Given the description of an element on the screen output the (x, y) to click on. 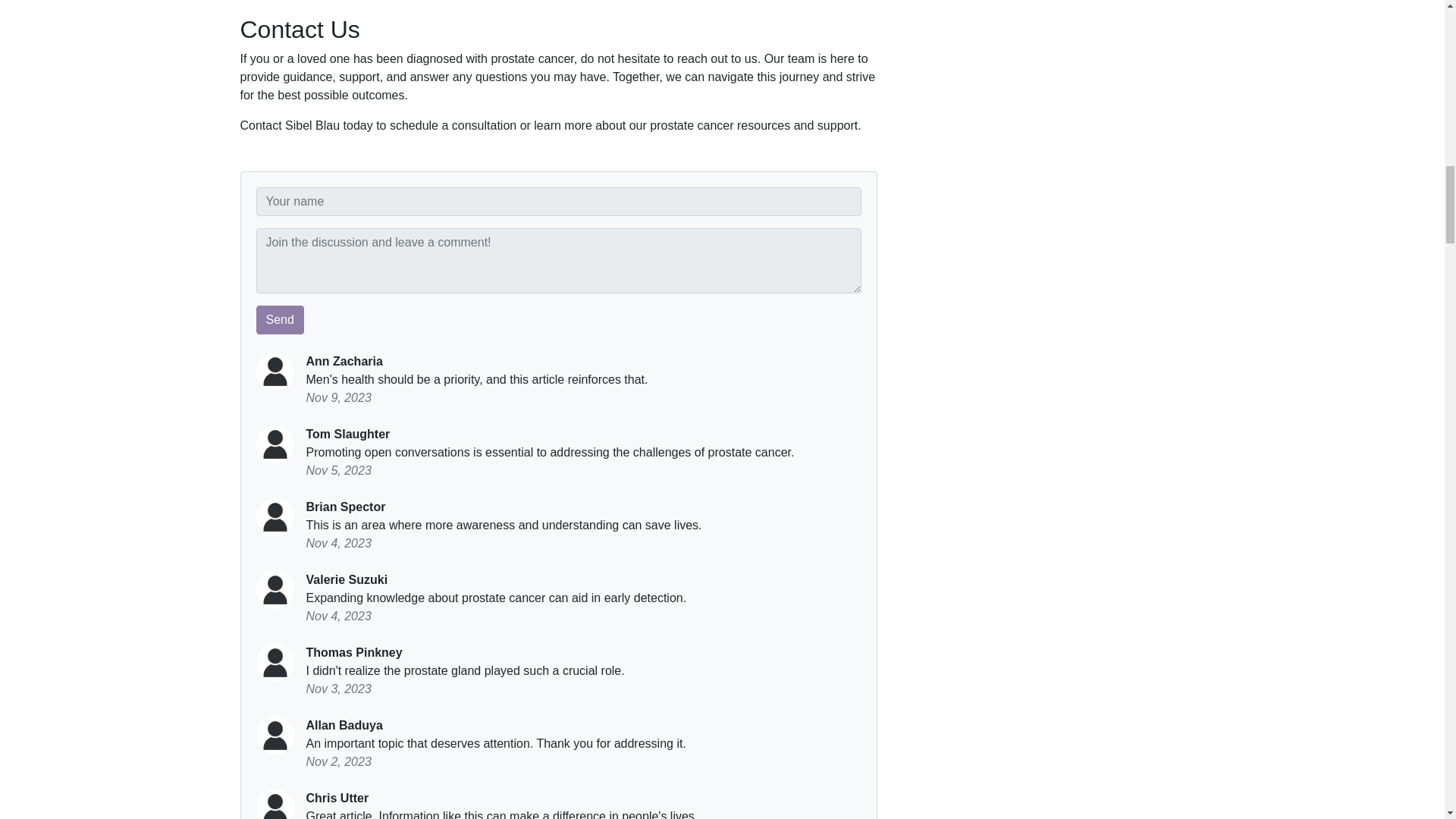
Send (280, 319)
Send (280, 319)
